Given the description of an element on the screen output the (x, y) to click on. 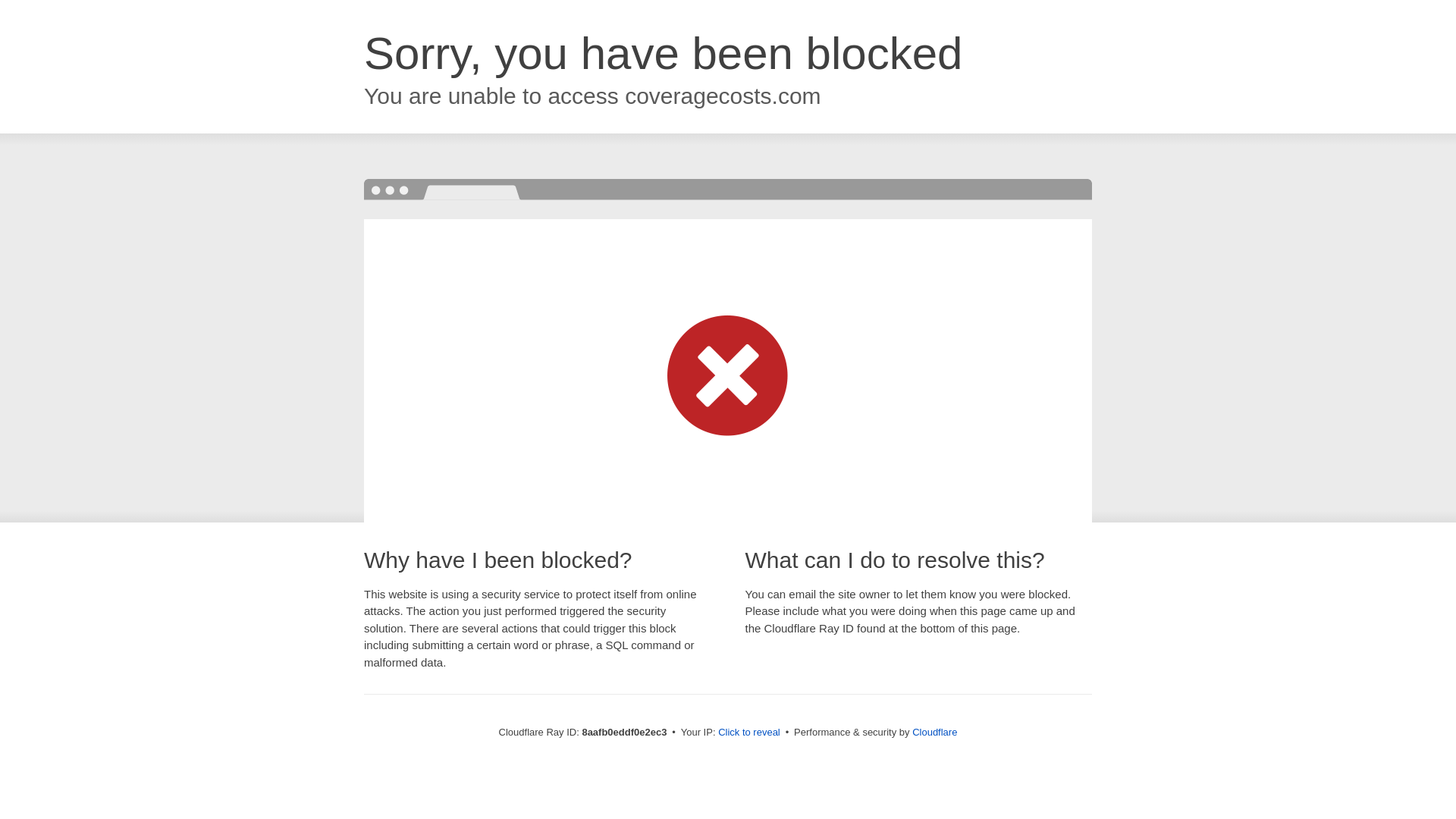
Click to reveal (748, 732)
Cloudflare (934, 731)
